Given the description of an element on the screen output the (x, y) to click on. 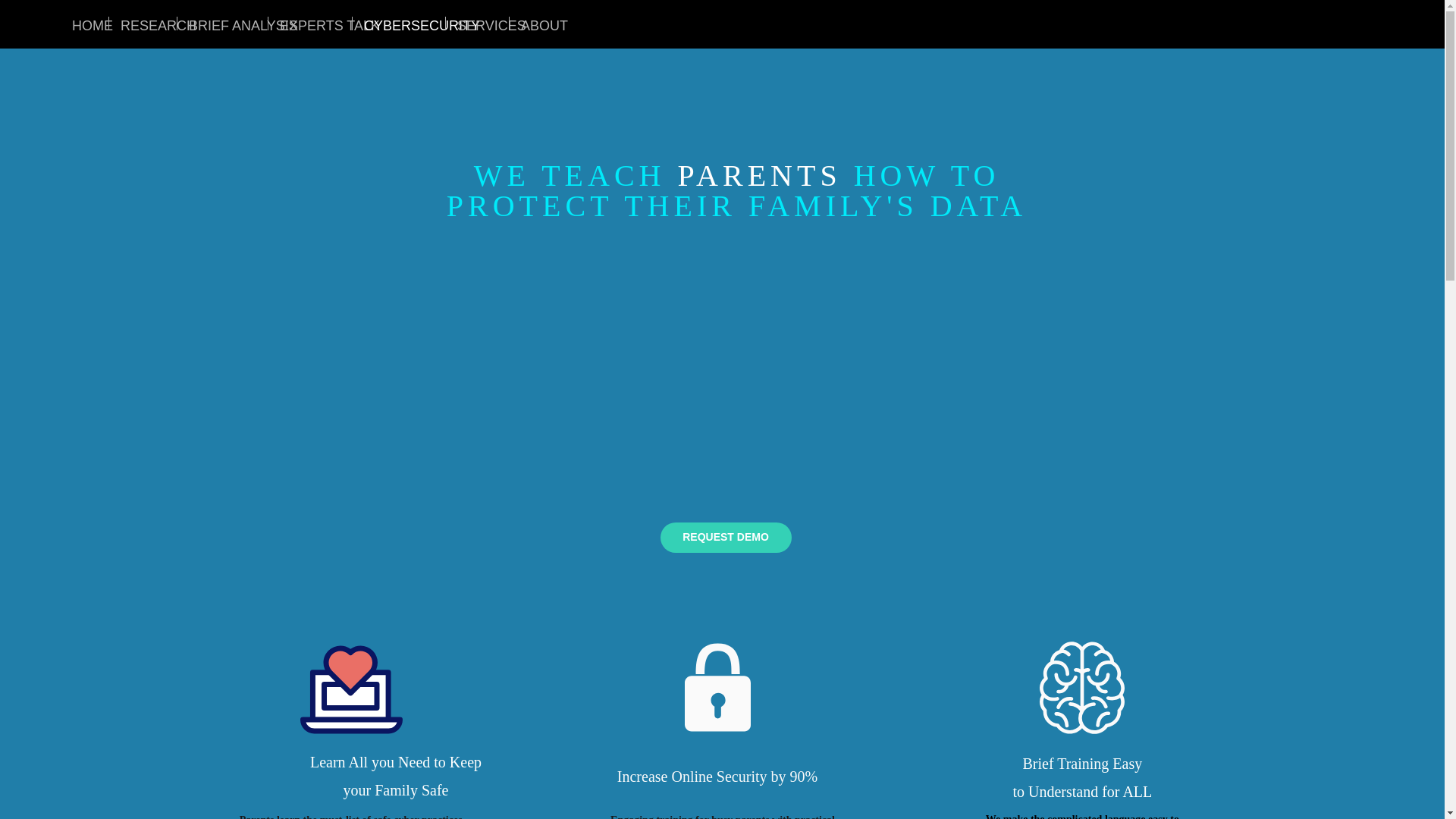
SERVICES (476, 23)
EXPERTS TALK (309, 23)
HOME (84, 23)
RESEARCH (142, 23)
ABOUT (535, 23)
BRIEF ANALYSIS (222, 23)
CYBERSECURITY (398, 23)
